Given the description of an element on the screen output the (x, y) to click on. 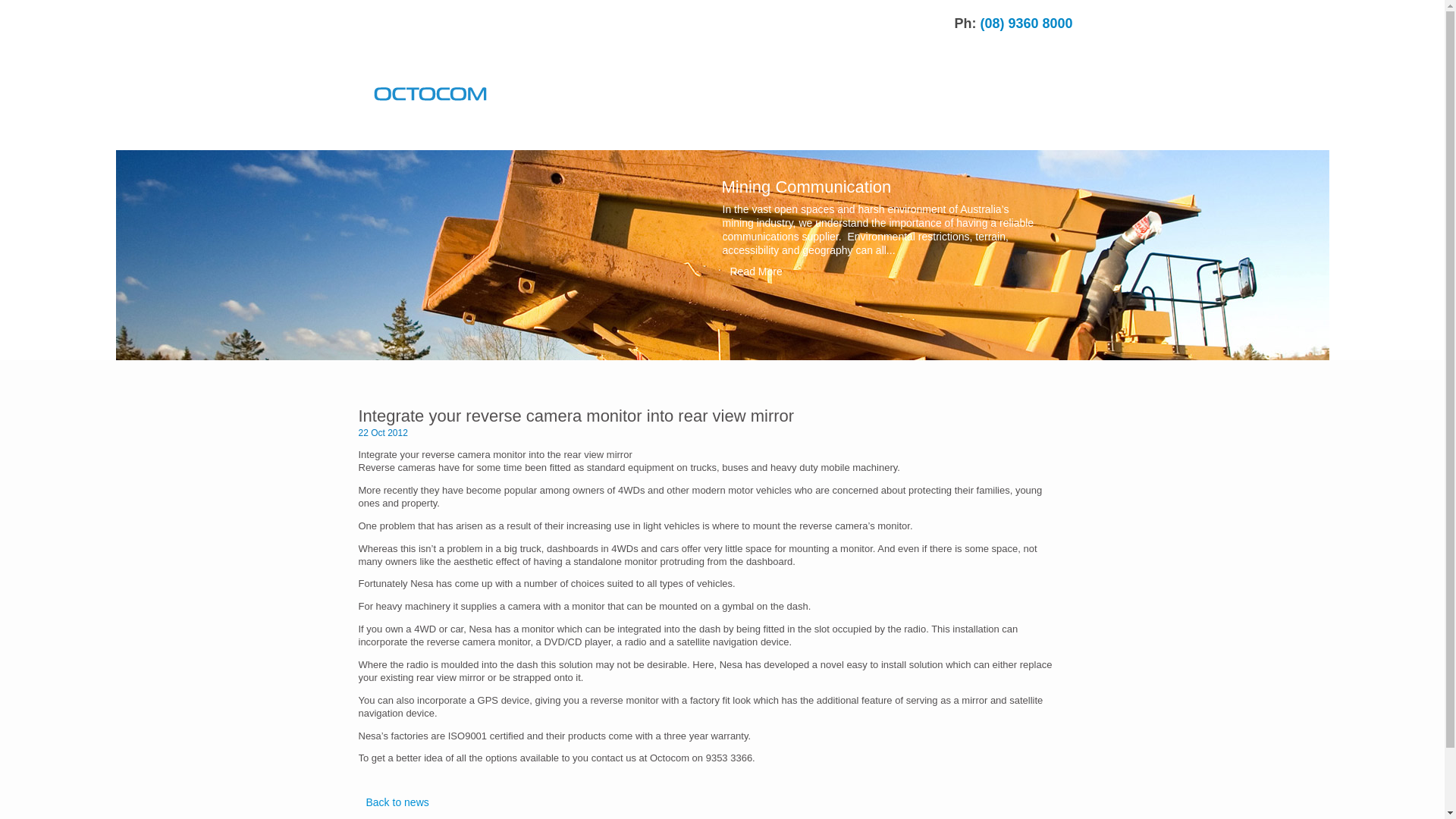
Read More (879, 271)
NEWS (688, 134)
CONTACT (995, 134)
HOME (403, 134)
GALLERY (775, 134)
SOLUTIONS (496, 134)
TESTIMONIALS (884, 134)
Back to news (393, 802)
SERVICES (599, 134)
